Given the description of an element on the screen output the (x, y) to click on. 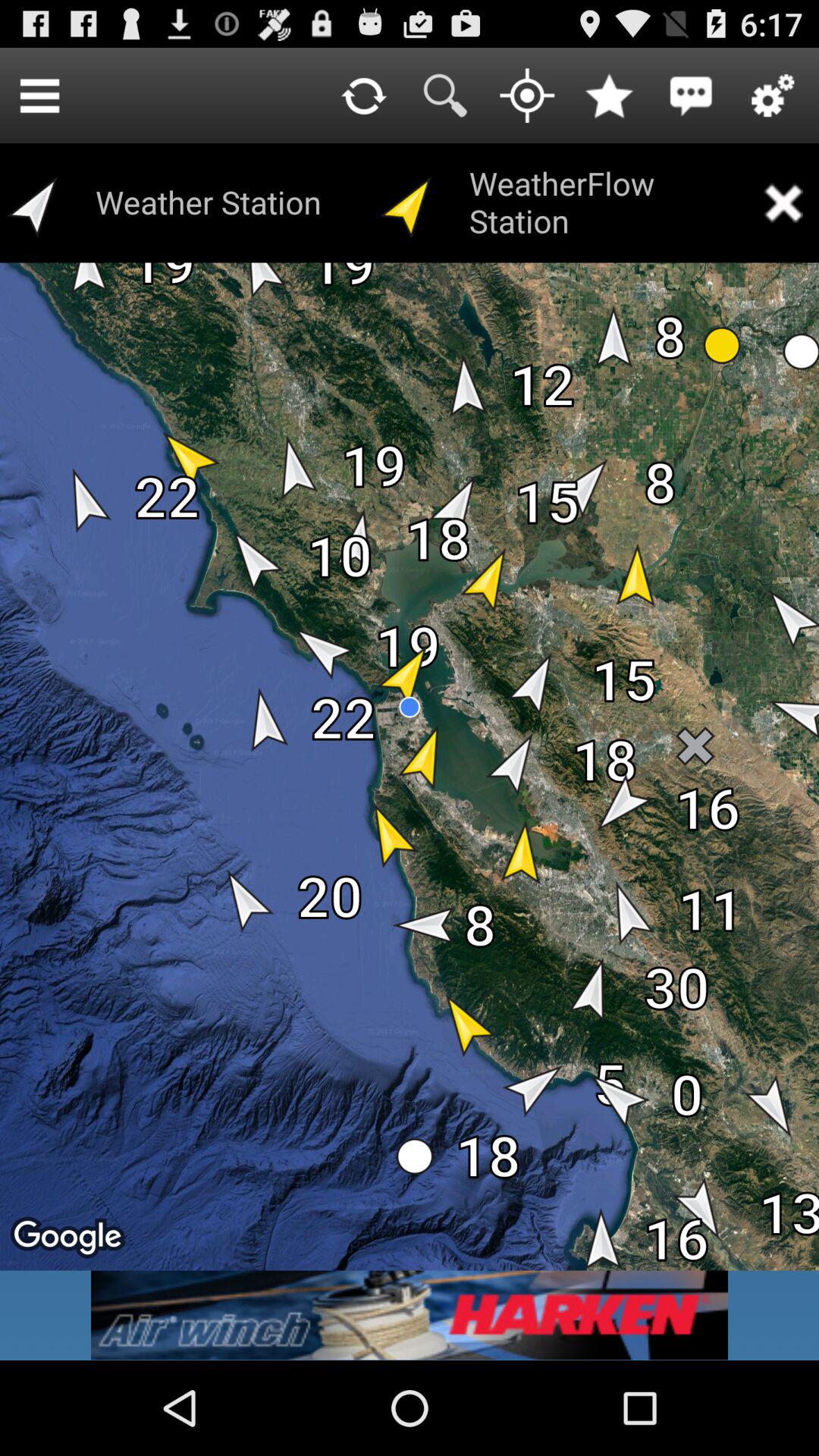
close the weather flow station option (783, 202)
